Given the description of an element on the screen output the (x, y) to click on. 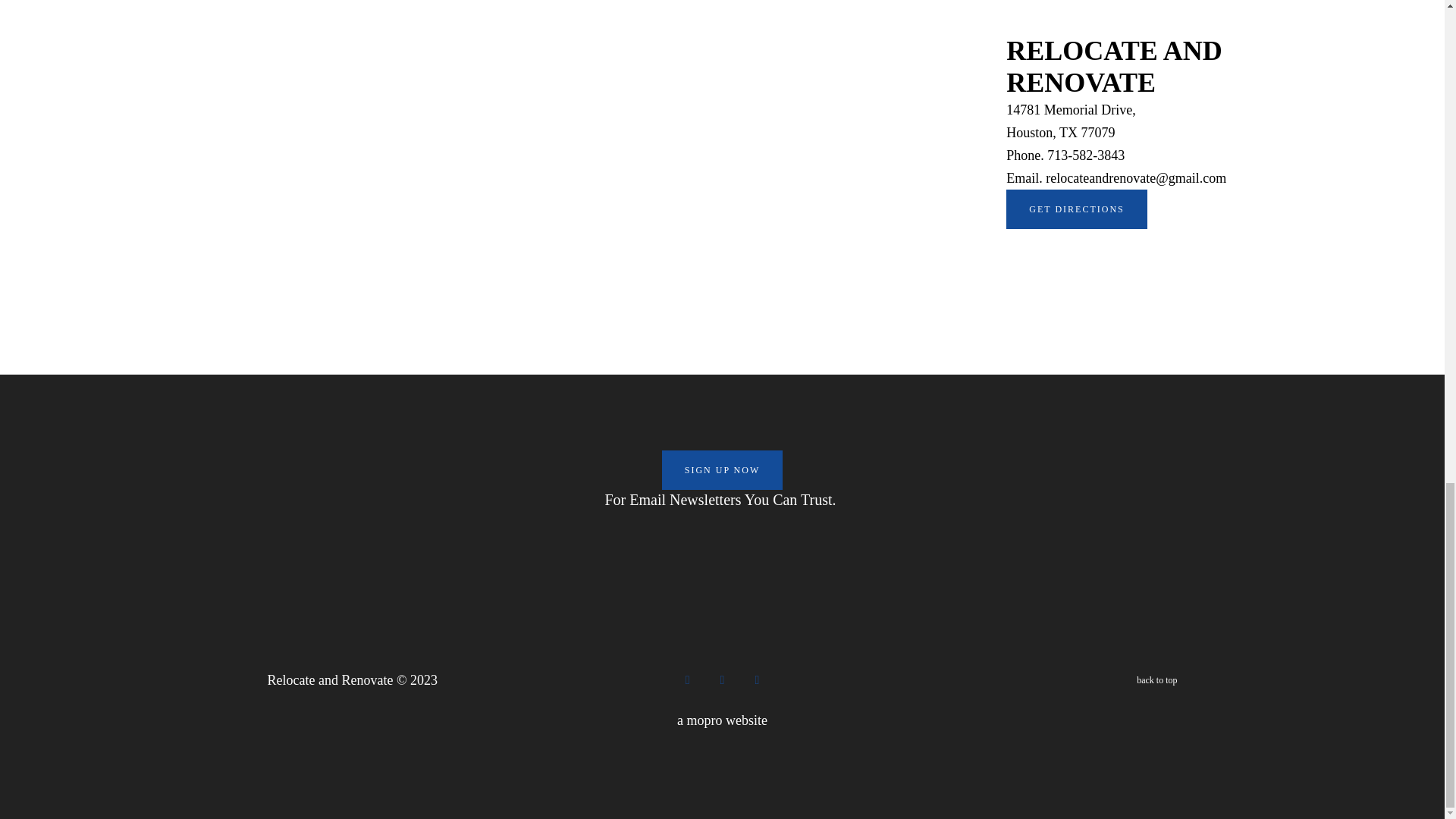
a mopro website (704, 720)
